Given the description of an element on the screen output the (x, y) to click on. 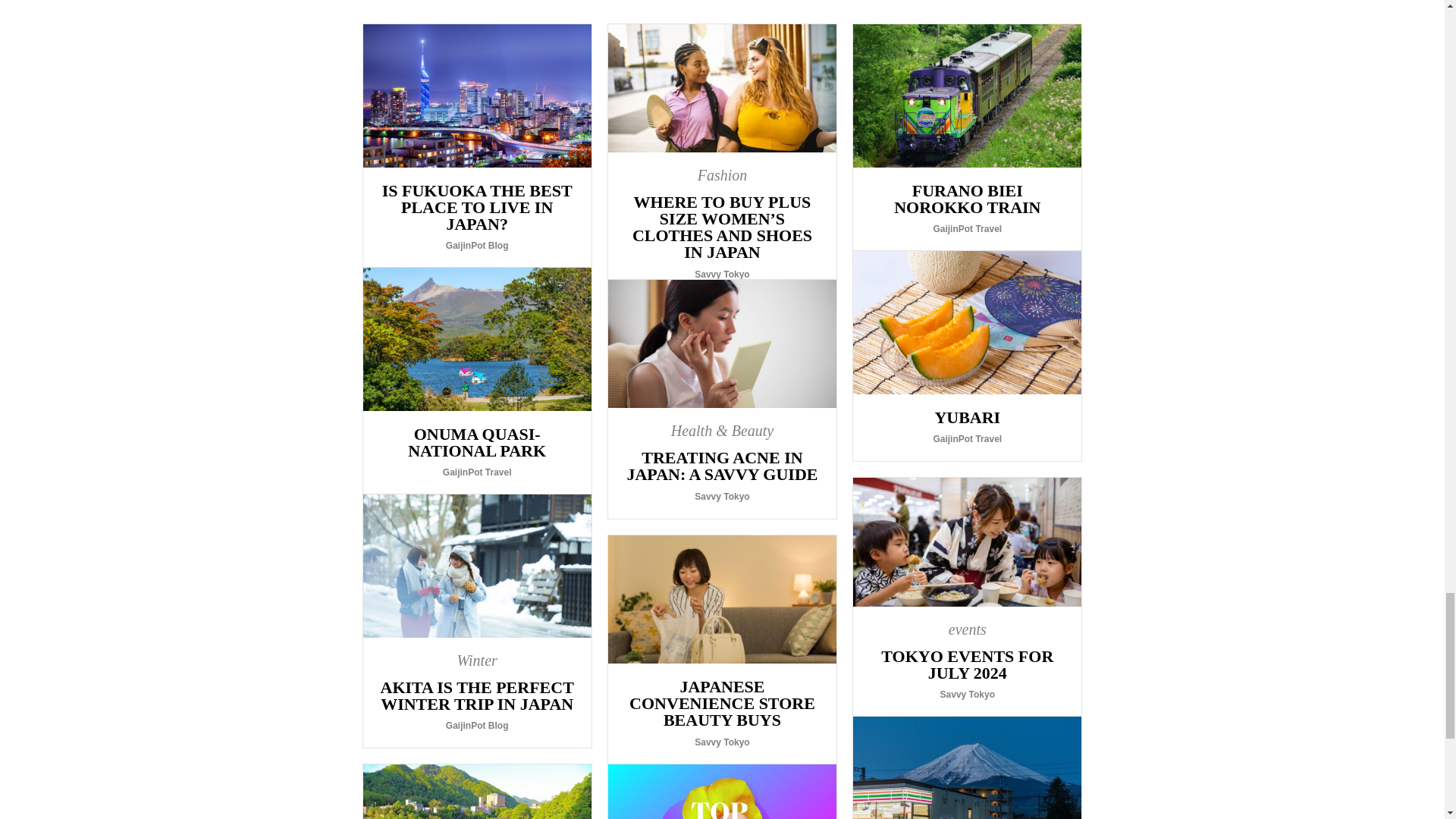
Is Fukuoka the Best Place to Live in Japan? (476, 145)
Furano Biei Norokko Train (967, 137)
